Given the description of an element on the screen output the (x, y) to click on. 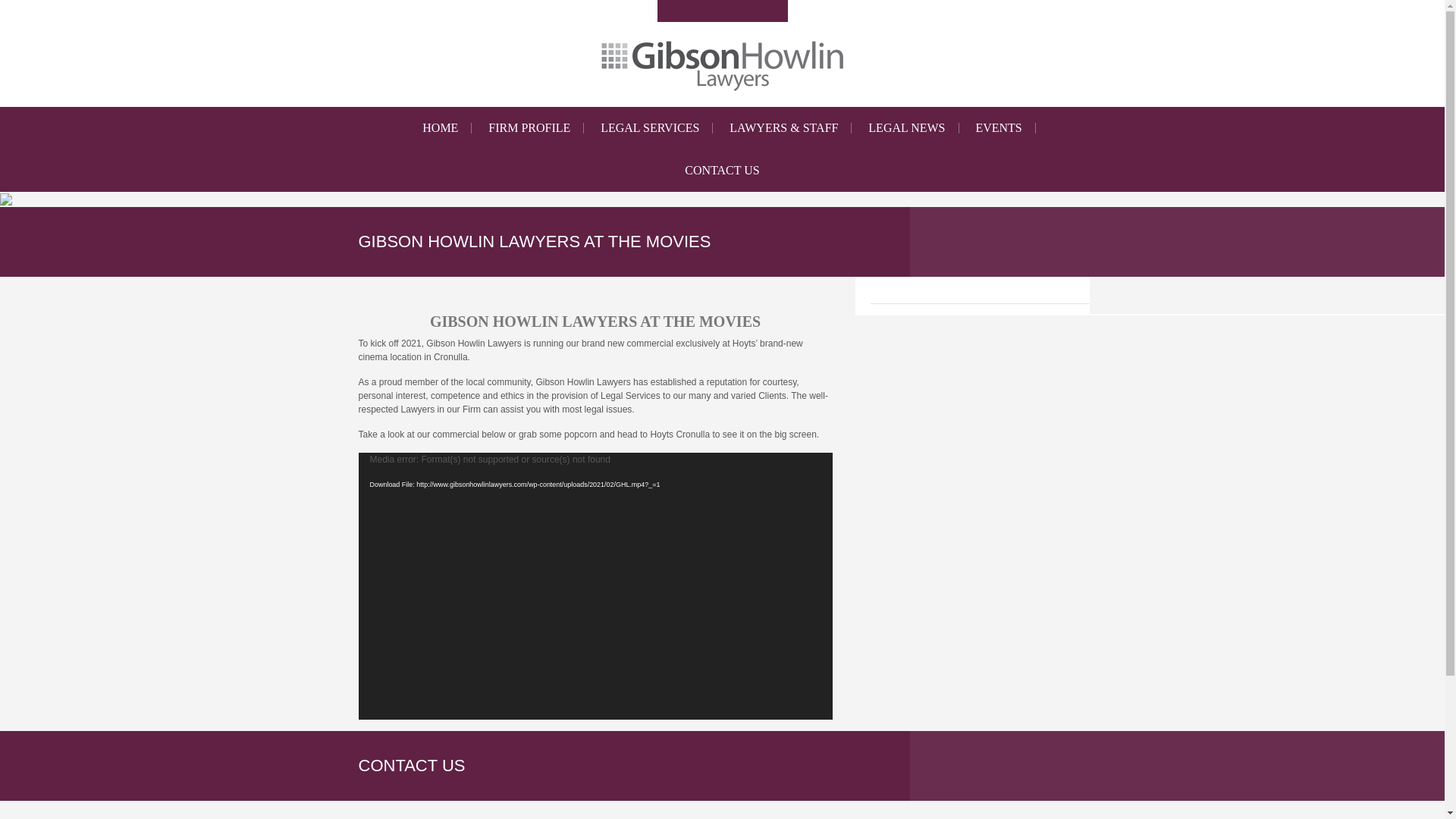
Home (440, 128)
CONTACT US (722, 170)
Firm Profile (528, 128)
LEGAL SERVICES (649, 128)
EVENTS (997, 128)
FIRM PROFILE (528, 128)
Legal Services (649, 128)
HOME (440, 128)
LEGAL NEWS (906, 128)
